Given the description of an element on the screen output the (x, y) to click on. 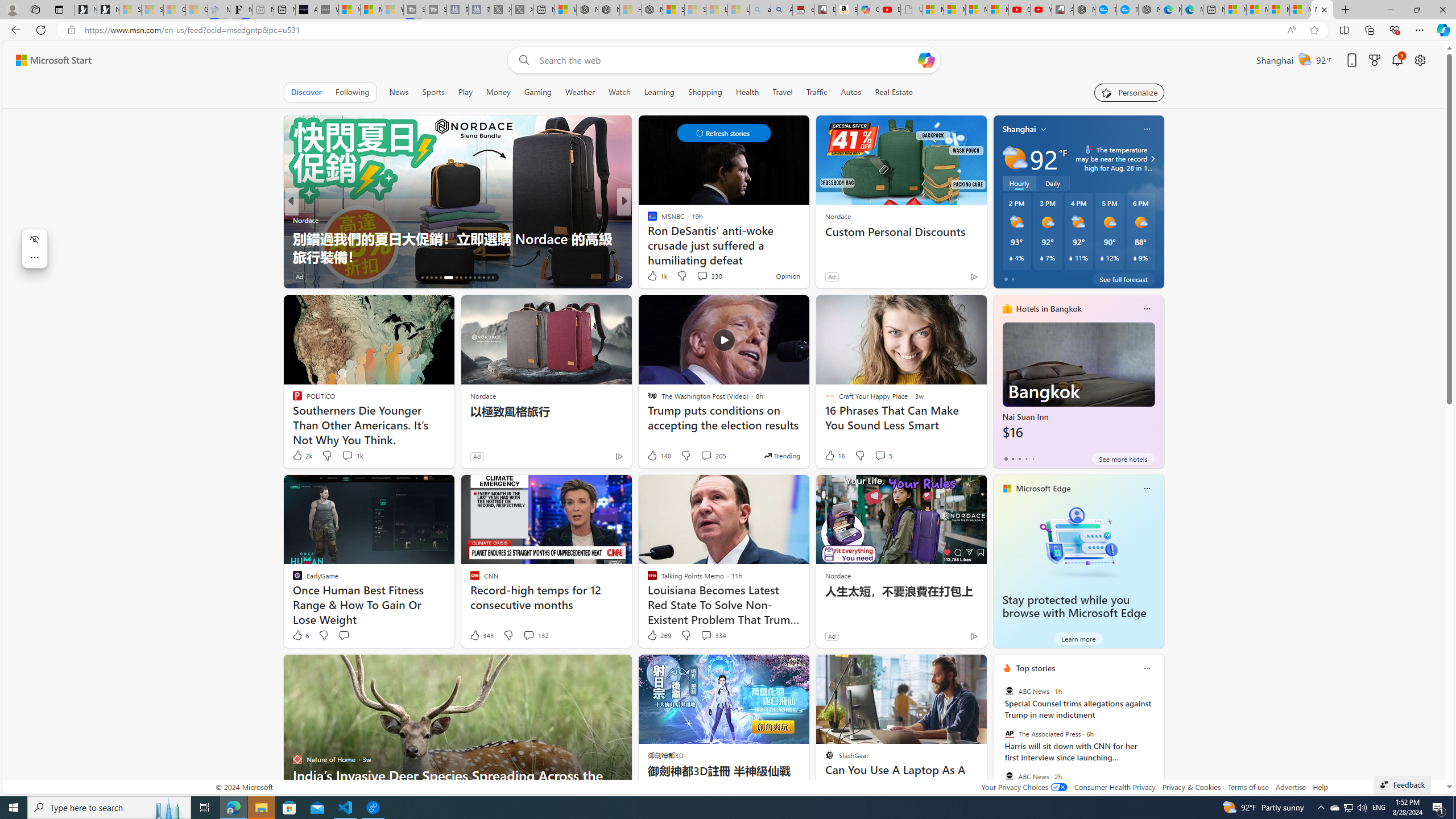
The Atlantic (647, 219)
Learn more (1078, 638)
View comments 213 Comment (6, 276)
hotels-header-icon (1006, 308)
497 Like (654, 276)
Hide menu (33, 239)
AI Voice Changer for PC and Mac - Voice.ai (306, 9)
1k Like (656, 275)
